Given the description of an element on the screen output the (x, y) to click on. 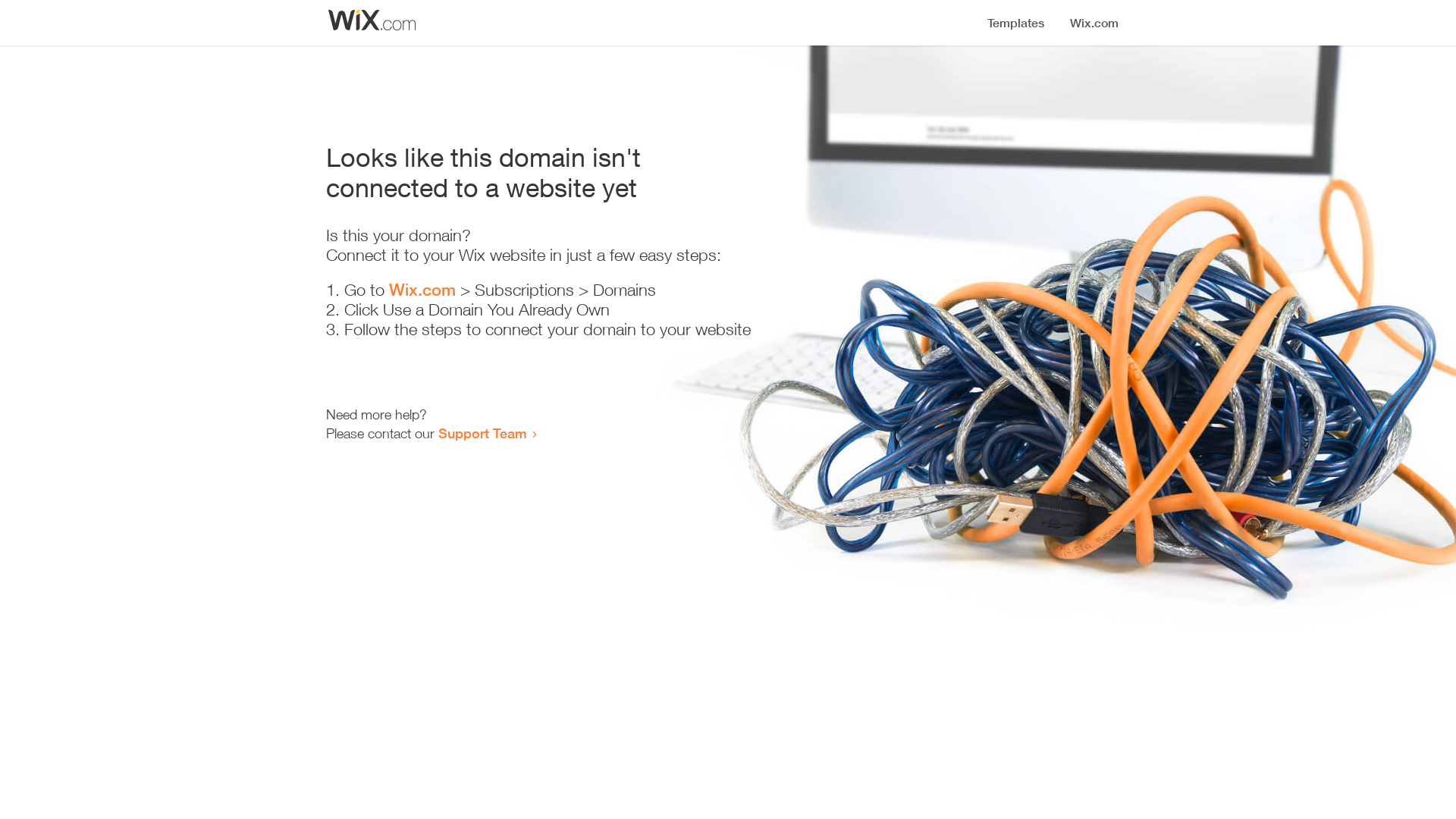
Support Team Element type: text (482, 432)
Wix.com Element type: text (422, 289)
